Given the description of an element on the screen output the (x, y) to click on. 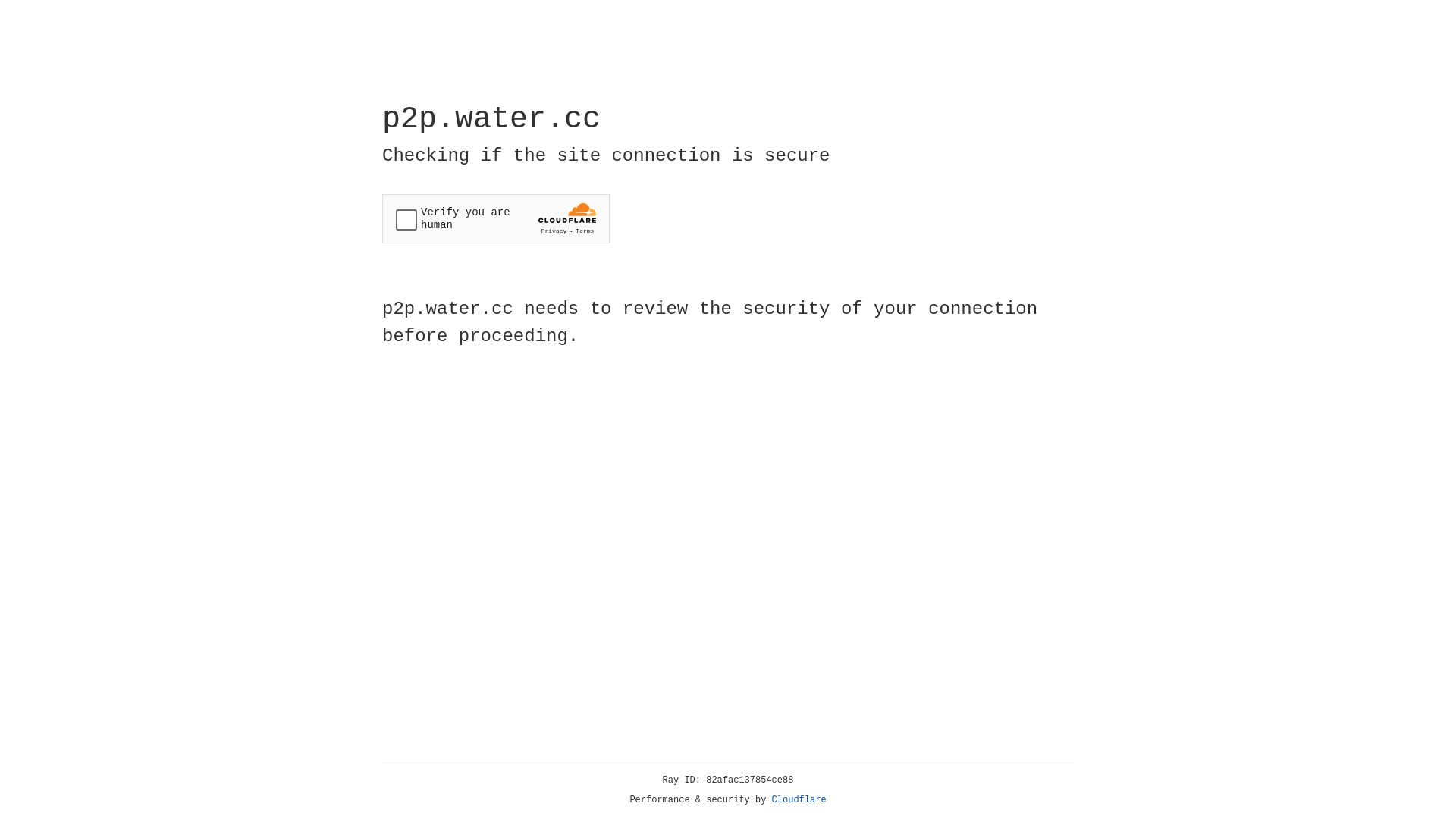
Cloudflare Element type: text (798, 799)
Widget containing a Cloudflare security challenge Element type: hover (495, 218)
